Given the description of an element on the screen output the (x, y) to click on. 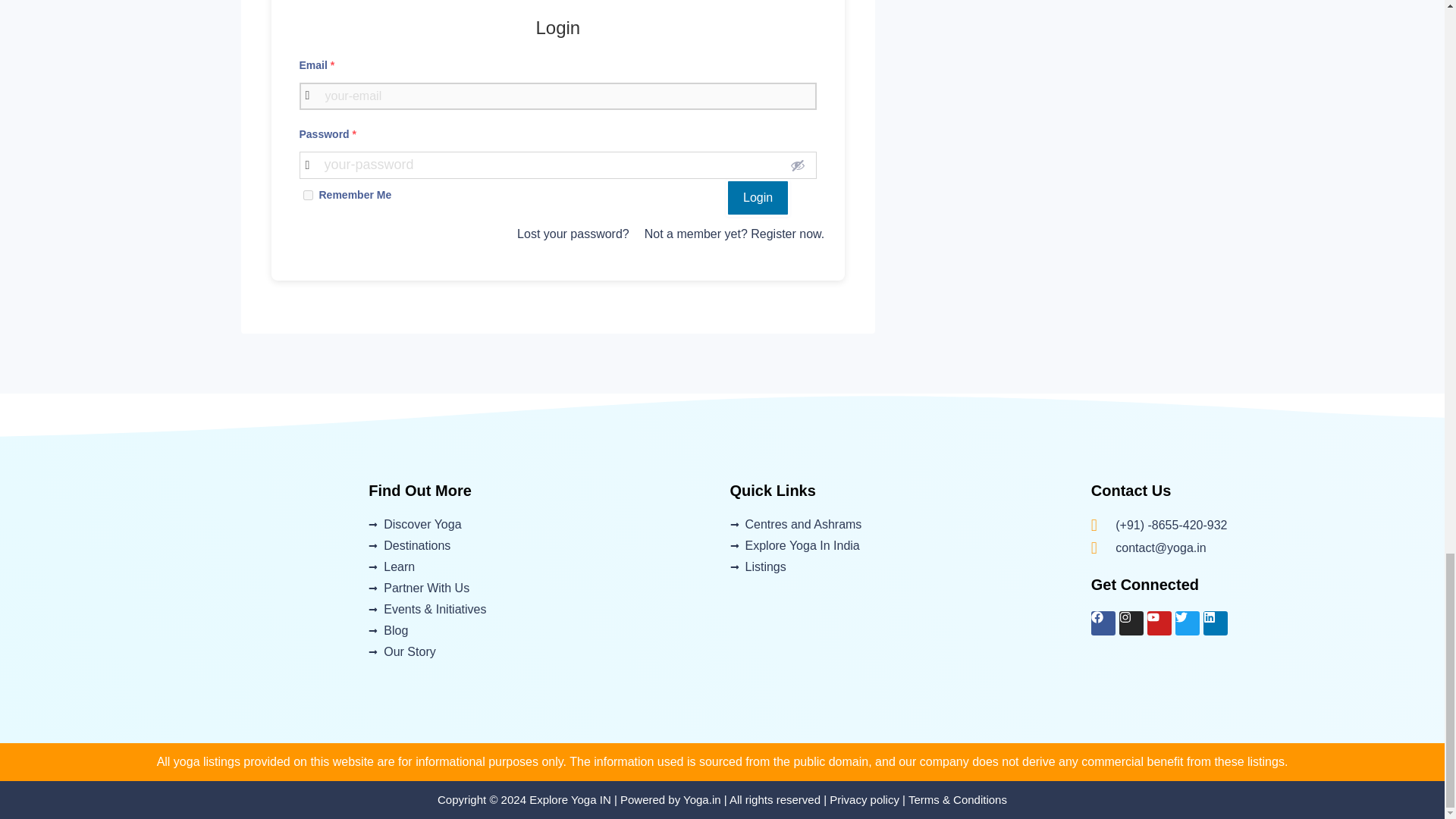
Lost your password? (572, 233)
Login (757, 198)
Not a member yet? Register now. (734, 233)
forever (307, 194)
Login (757, 198)
